Given the description of an element on the screen output the (x, y) to click on. 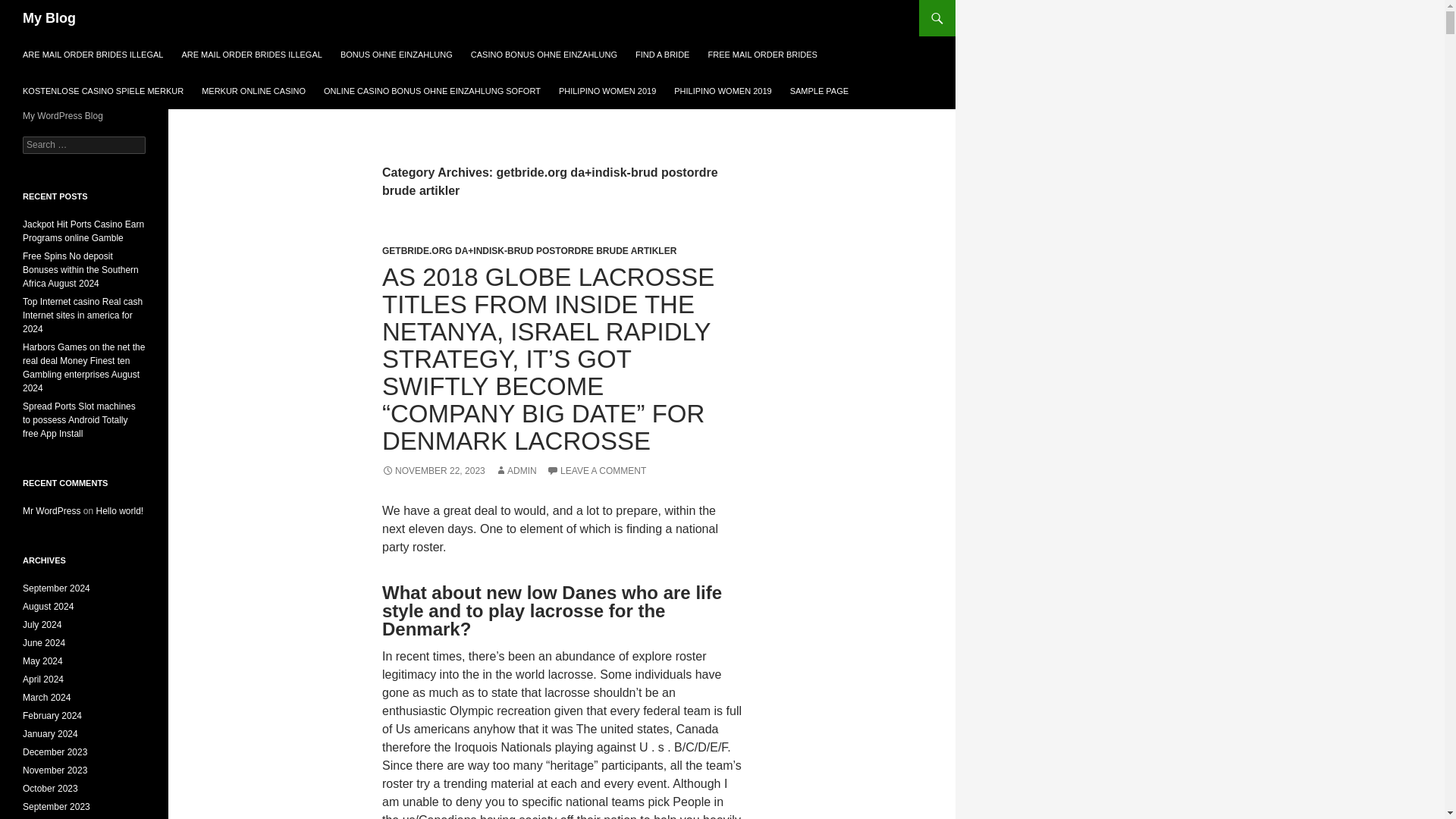
NOVEMBER 22, 2023 (432, 470)
April 2024 (43, 679)
Jackpot Hit Ports Casino Earn Programs online Gamble (83, 231)
Search (30, 8)
ARE MAIL ORDER BRIDES ILLEGAL (92, 54)
June 2024 (44, 643)
SKIP TO CONTENT (59, 42)
ONLINE CASINO BONUS OHNE EINZAHLUNG SOFORT (432, 90)
